Given the description of an element on the screen output the (x, y) to click on. 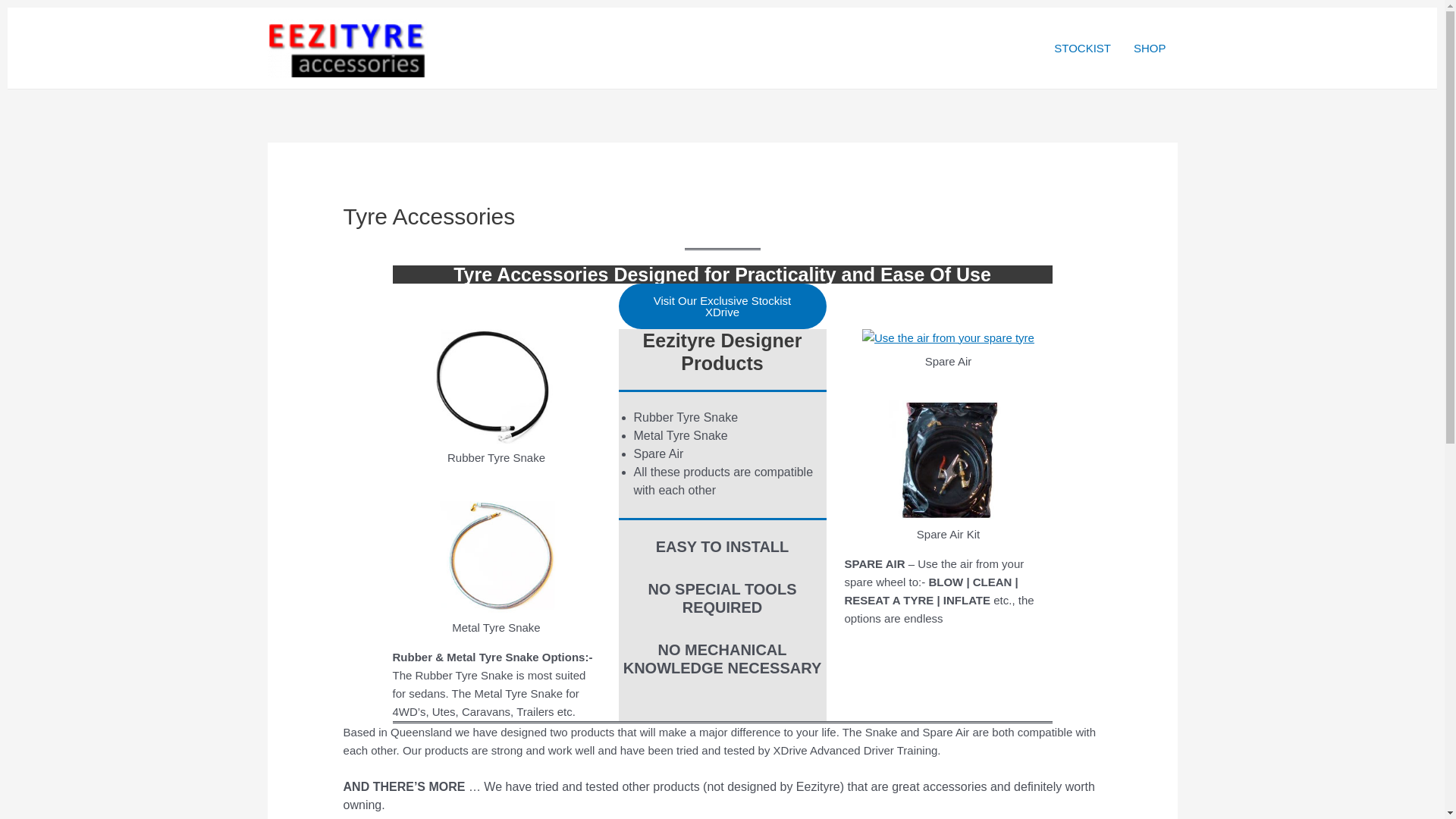
STOCKIST Element type: text (1082, 47)
SHOP Element type: text (1149, 47)
Visit Our Exclusive Stockist XDrive Element type: text (722, 306)
